Given the description of an element on the screen output the (x, y) to click on. 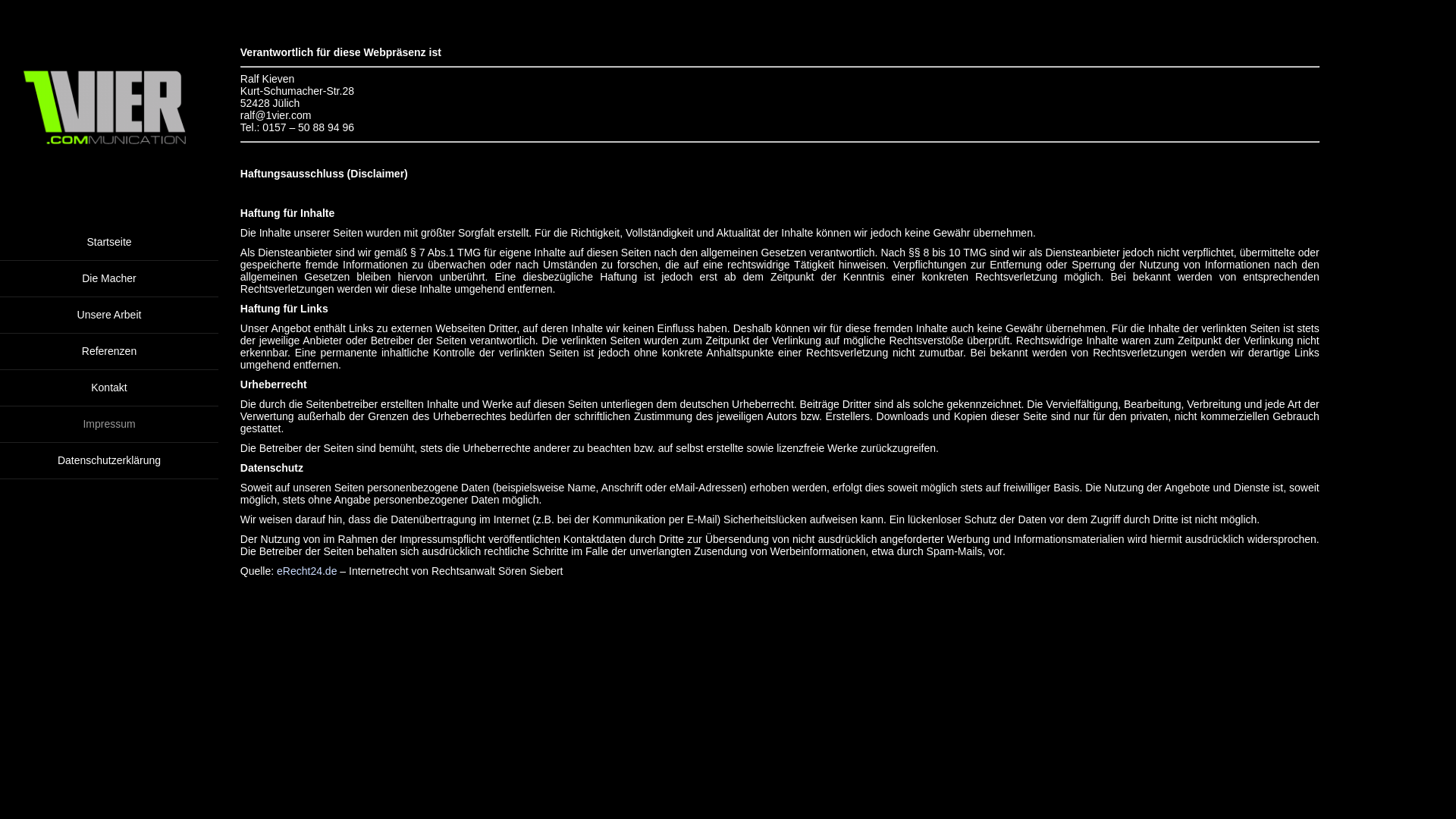
Startseite Element type: text (109, 242)
Referenzen Element type: text (109, 351)
Kontakt Element type: text (109, 388)
Unsere Arbeit Element type: text (109, 315)
Die Macher Element type: text (109, 278)
eRecht24.de Element type: text (306, 570)
Impressum Element type: text (109, 424)
